Given the description of an element on the screen output the (x, y) to click on. 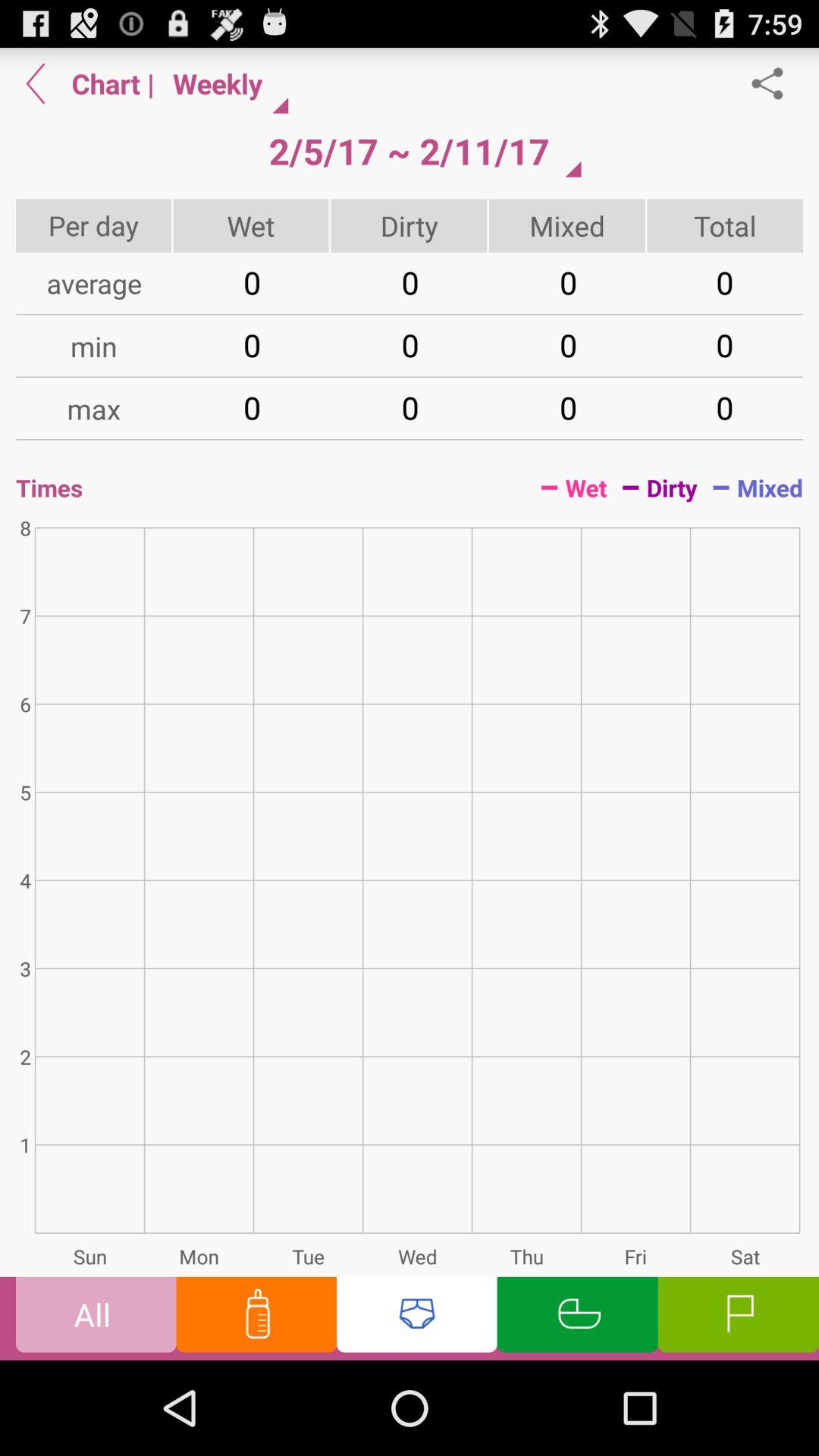
feeding log option (256, 1318)
